Given the description of an element on the screen output the (x, y) to click on. 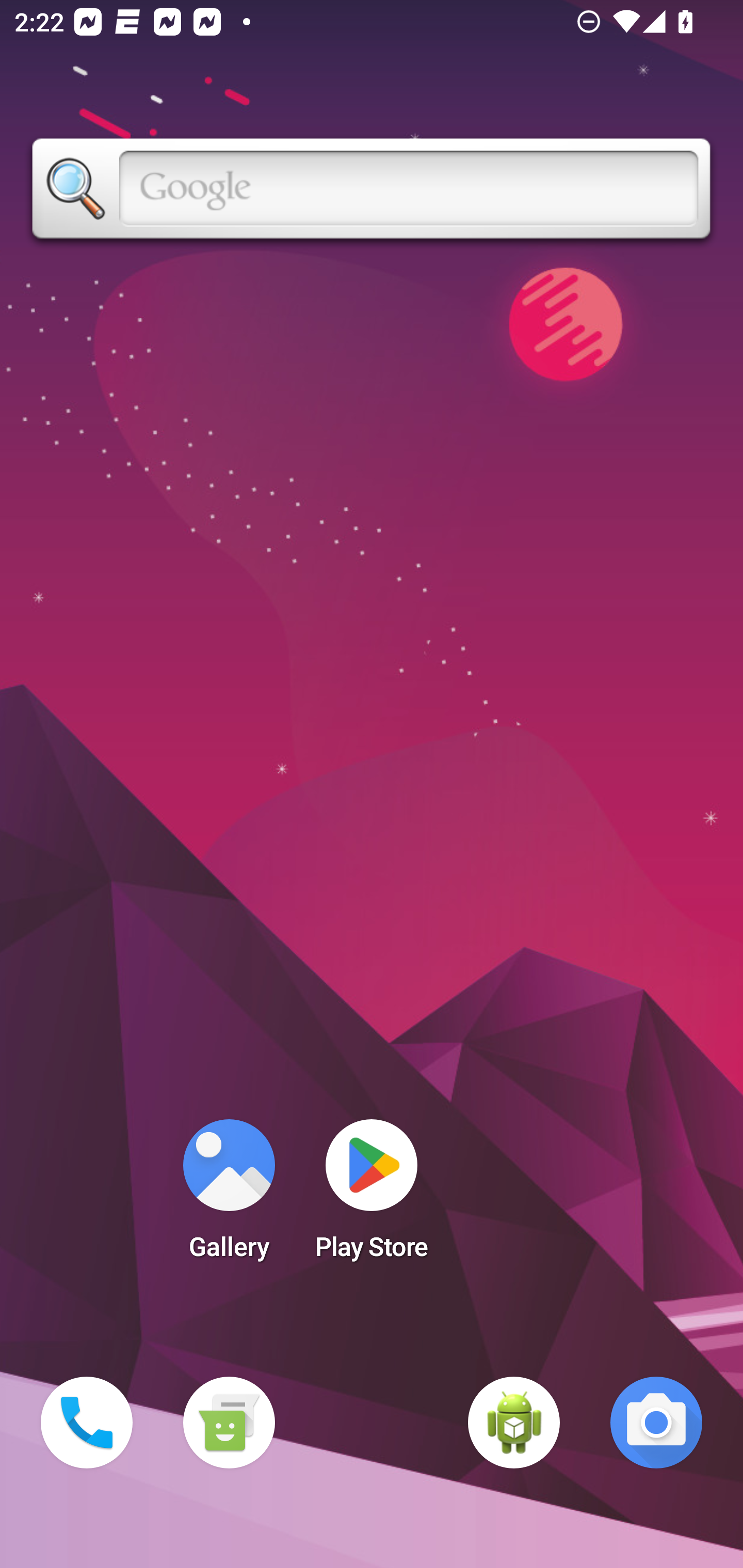
Gallery (228, 1195)
Play Store (371, 1195)
Phone (86, 1422)
Messaging (228, 1422)
WebView Browser Tester (513, 1422)
Camera (656, 1422)
